Given the description of an element on the screen output the (x, y) to click on. 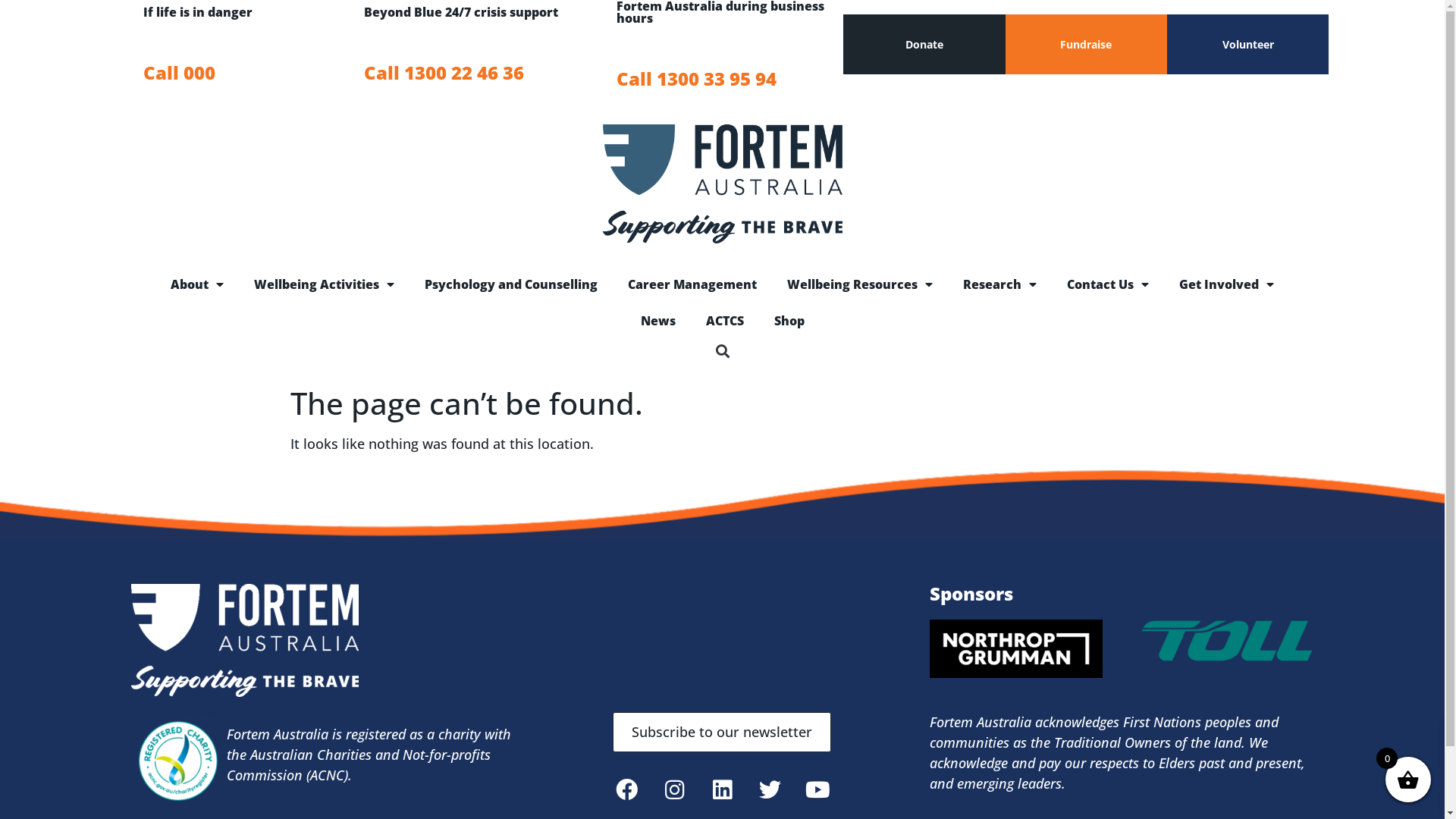
ACTCS Element type: text (724, 320)
Research Element type: text (999, 284)
Psychology and Counselling Element type: text (510, 284)
Wellbeing Activities Element type: text (323, 284)
Subscribe to our newsletter Element type: text (721, 732)
Call 1300 33 95 94 Element type: text (730, 78)
Fundraise Element type: text (1086, 44)
Call 1300 22 46 36 Element type: text (476, 72)
Wellbeing Resources Element type: text (859, 284)
Call 000 Element type: text (238, 72)
News Element type: text (657, 320)
Career Management Element type: text (691, 284)
Contact Us Element type: text (1107, 284)
About Element type: text (196, 284)
Volunteer Element type: text (1247, 44)
Donate Element type: text (923, 44)
Shop Element type: text (788, 320)
Get Involved Element type: text (1226, 284)
